Given the description of an element on the screen output the (x, y) to click on. 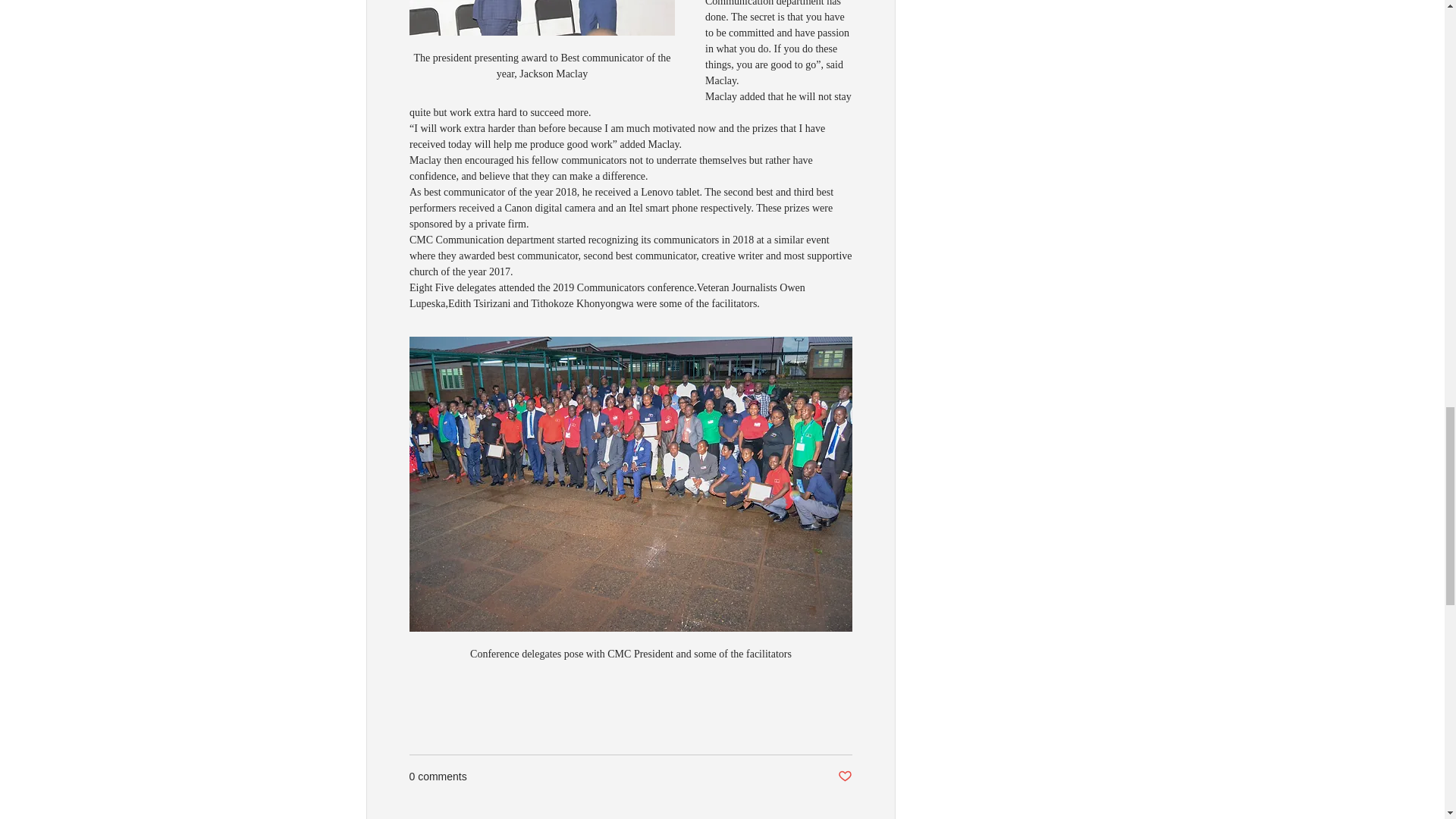
Post not marked as liked (844, 776)
